Given the description of an element on the screen output the (x, y) to click on. 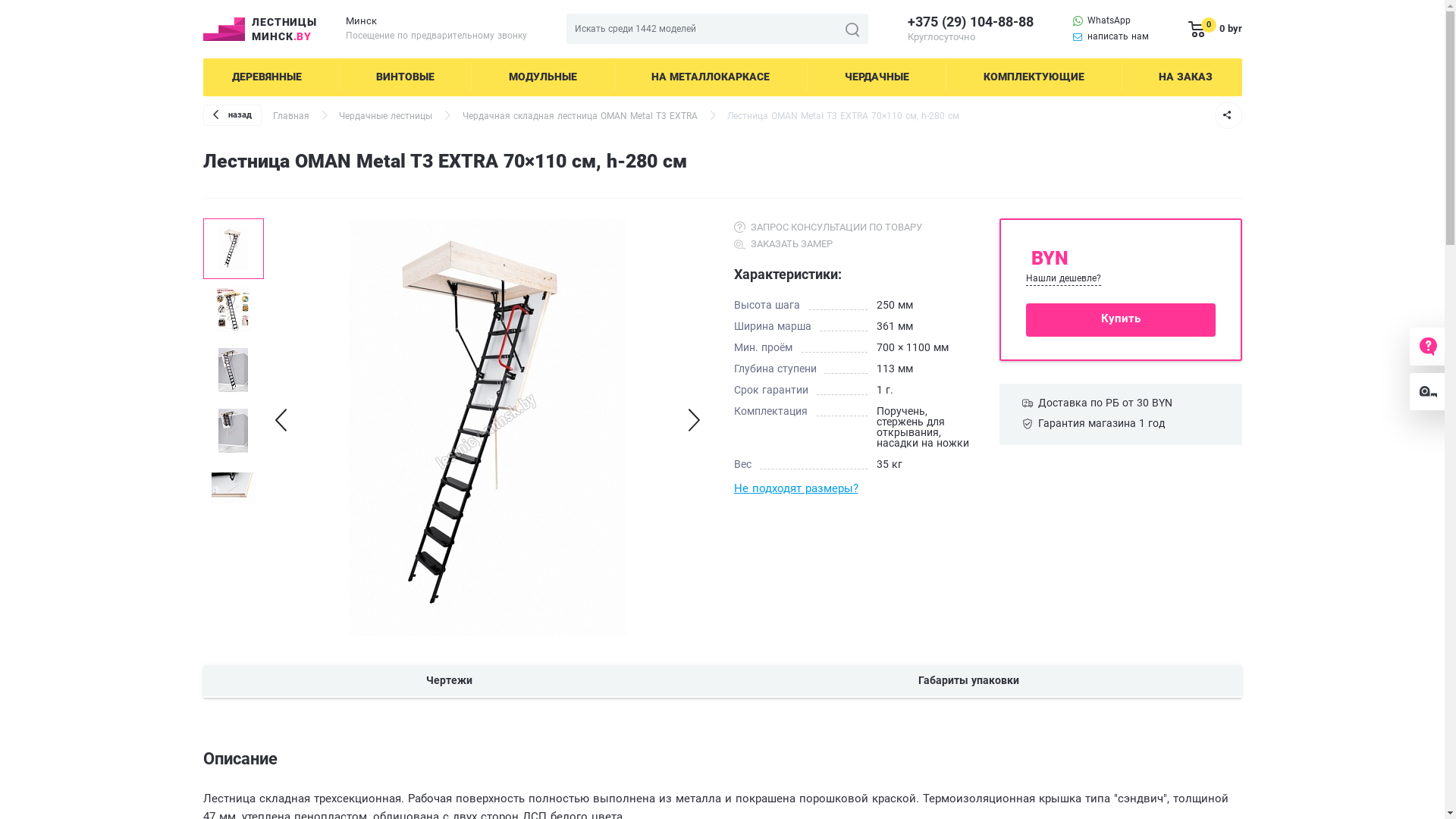
WhatsApp Element type: text (1101, 20)
0
0 byr Element type: text (1215, 29)
